Given the description of an element on the screen output the (x, y) to click on. 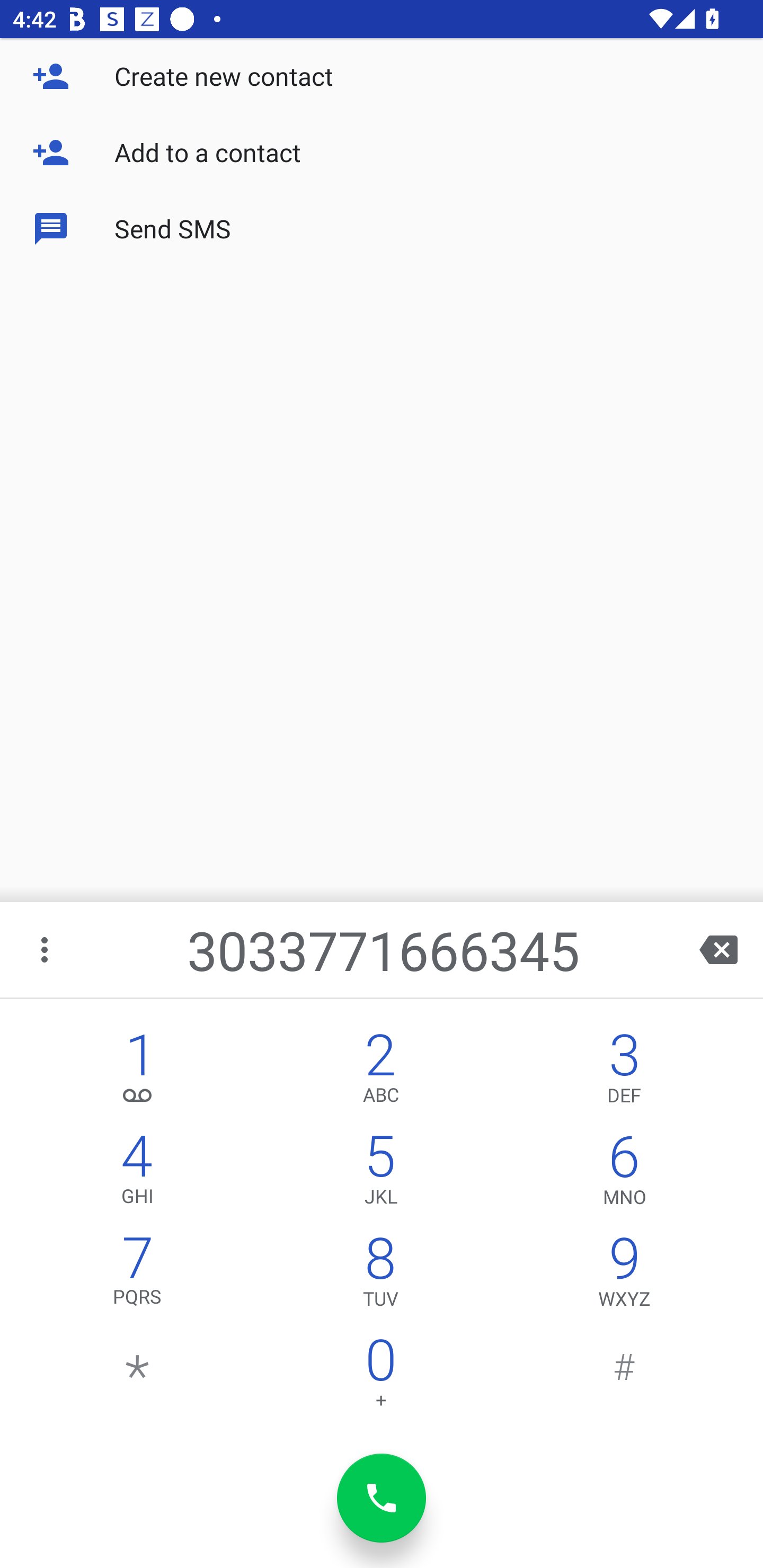
Create new contact (381, 75)
Add to a contact (381, 152)
Send SMS (381, 228)
3033771666345 (382, 949)
backspace (718, 949)
More options (45, 949)
1, 1 (137, 1071)
2,ABC 2 ABC (380, 1071)
3,DEF 3 DEF (624, 1071)
4,GHI 4 GHI (137, 1173)
5,JKL 5 JKL (380, 1173)
6,MNO 6 MNO (624, 1173)
7,PQRS 7 PQRS (137, 1275)
8,TUV 8 TUV (380, 1275)
9,WXYZ 9 WXYZ (624, 1275)
* (137, 1377)
0 0 + (380, 1377)
# (624, 1377)
dial (381, 1497)
